Given the description of an element on the screen output the (x, y) to click on. 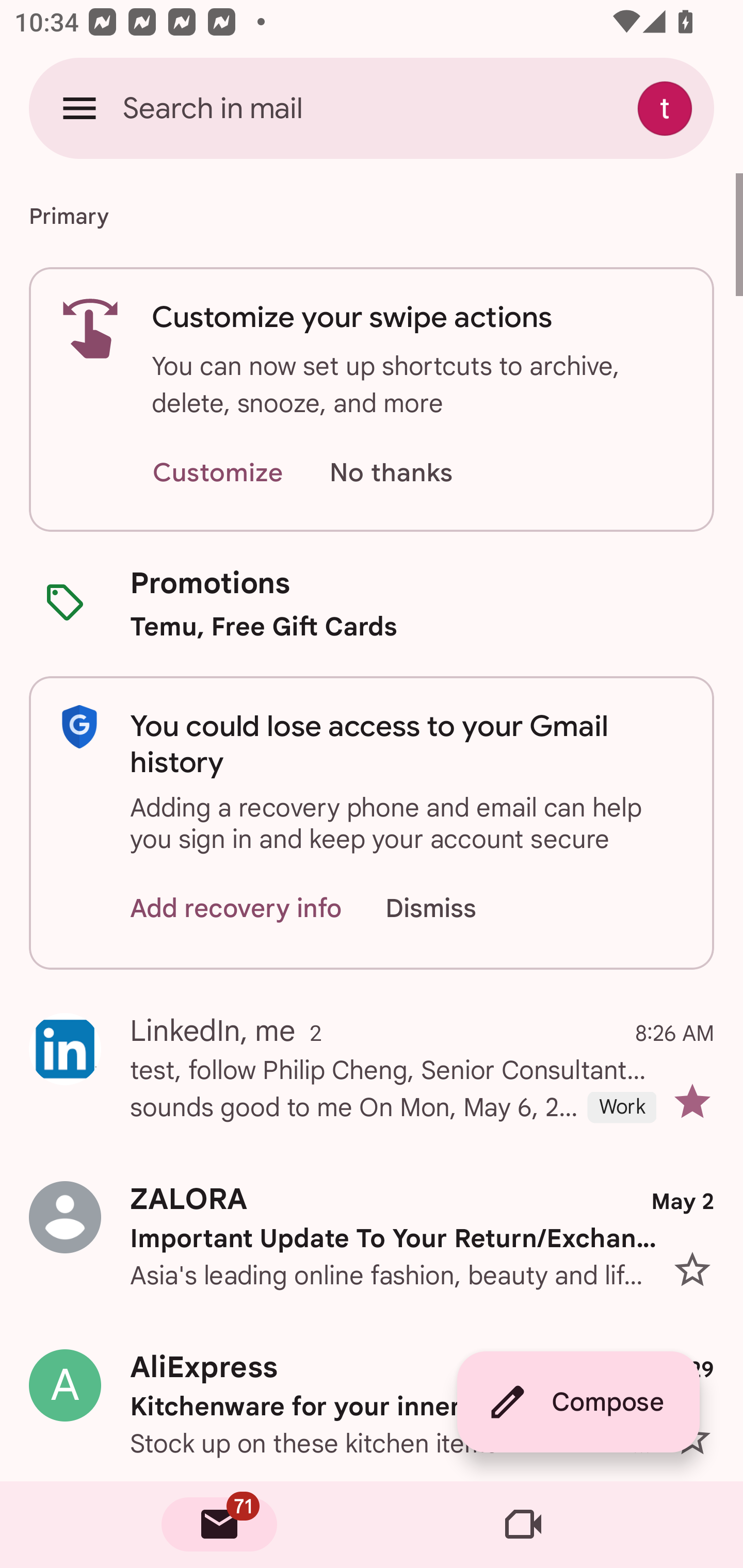
Open navigation drawer (79, 108)
Customize (217, 473)
No thanks (390, 473)
Promotions Temu, Free Gift Cards (371, 603)
Add recovery info (235, 908)
Dismiss (449, 908)
Compose (577, 1401)
Meet (523, 1524)
